Given the description of an element on the screen output the (x, y) to click on. 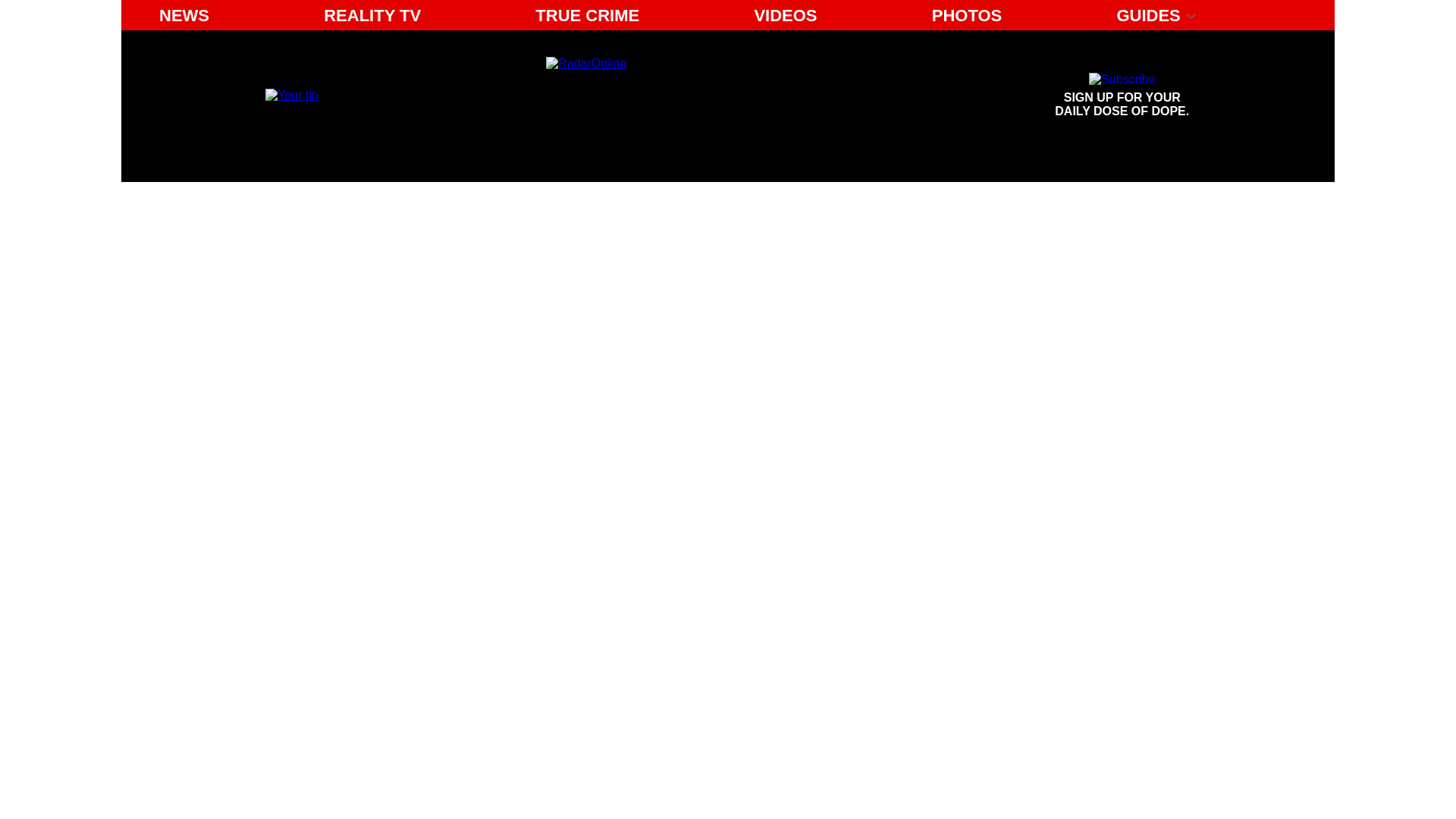
REALITY TV (371, 15)
TRUE CRIME (586, 15)
NEWS (183, 15)
VIDEOS (784, 15)
Radar Online (685, 95)
PHOTOS (967, 15)
Email us your tip (291, 94)
Sign up for your daily dose of dope. (1122, 94)
